Given the description of an element on the screen output the (x, y) to click on. 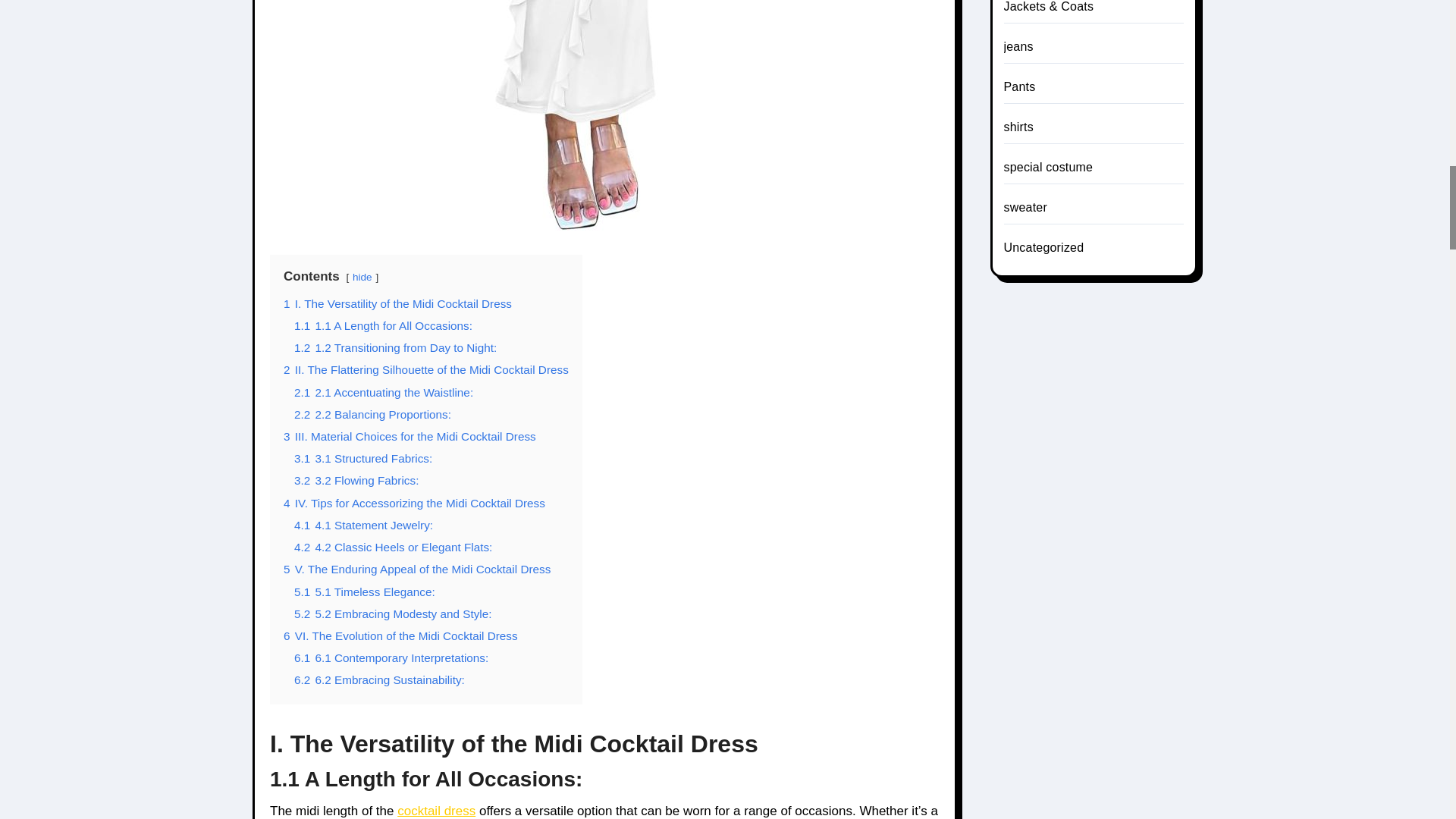
1 I. The Versatility of the Midi Cocktail Dress (397, 303)
2 II. The Flattering Silhouette of the Midi Cocktail Dress (426, 369)
1.2 1.2 Transitioning from Day to Night: (395, 347)
2.1 2.1 Accentuating the Waistline: (383, 391)
2.2 2.2 Balancing Proportions: (372, 413)
1.1 1.1 A Length for All Occasions: (382, 325)
hide (362, 276)
